Given the description of an element on the screen output the (x, y) to click on. 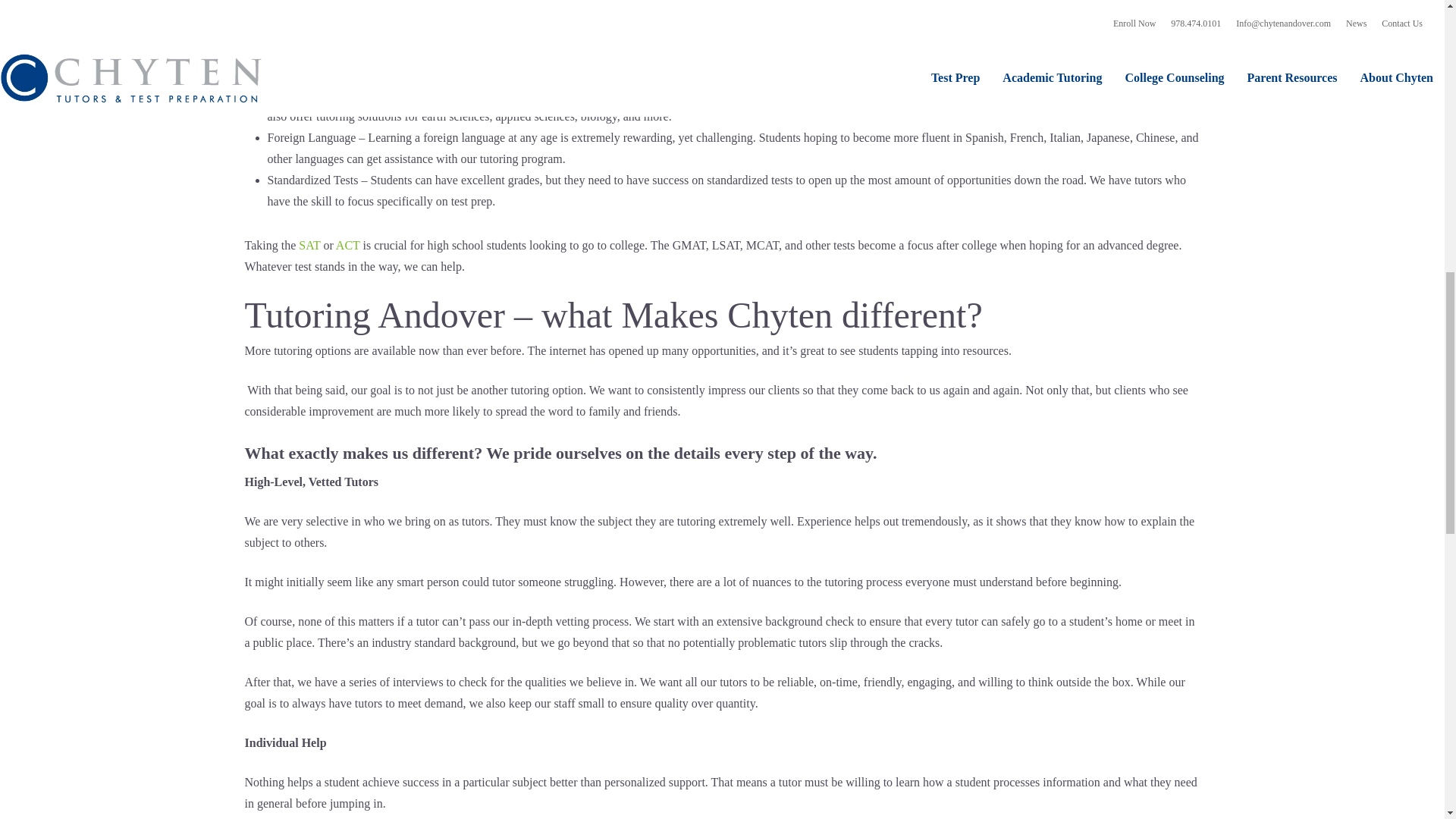
trigonometry (1099, 10)
ACT (346, 245)
math (459, 31)
SAT (309, 245)
